Given the description of an element on the screen output the (x, y) to click on. 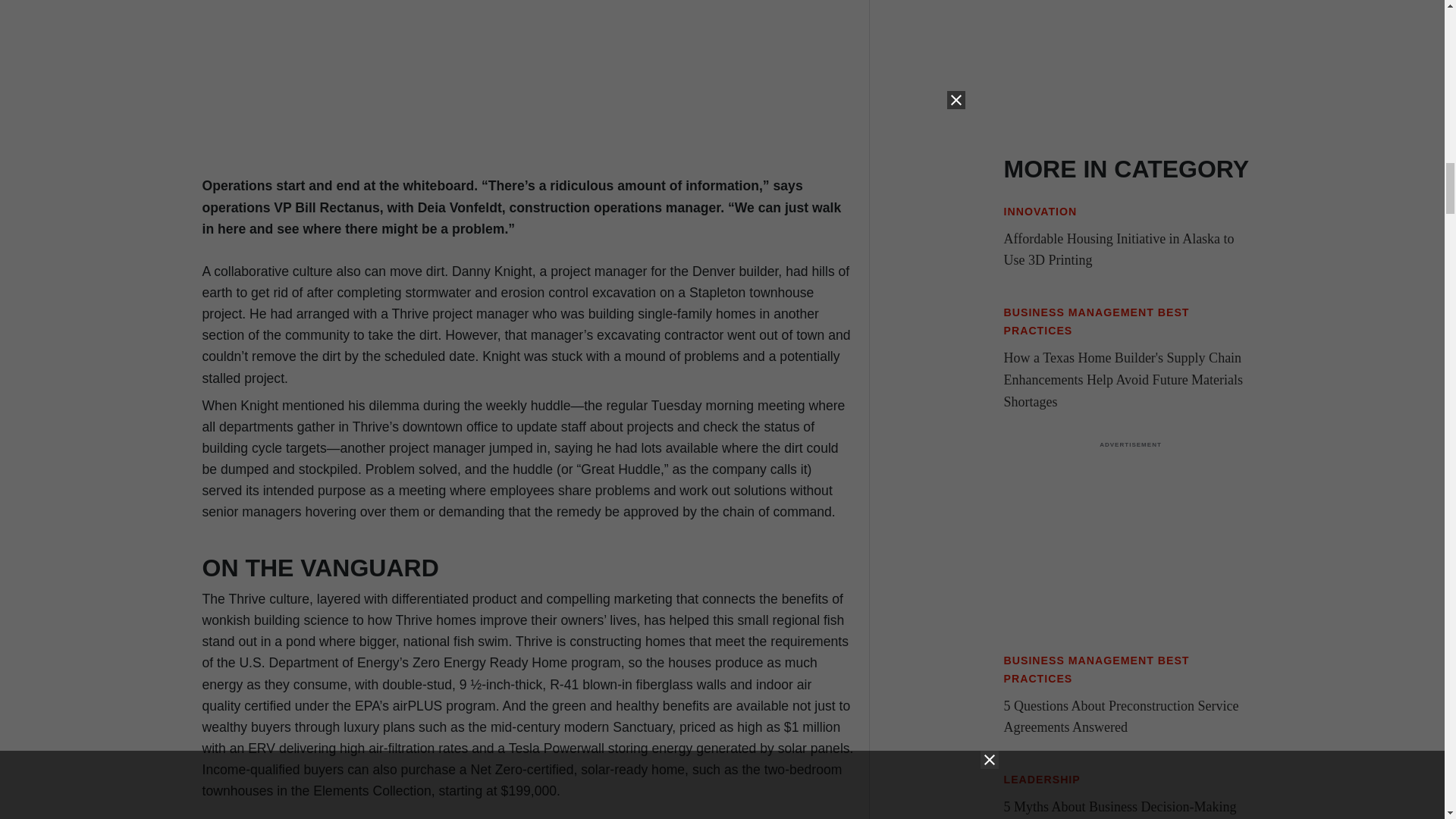
3rd party ad content (1130, 65)
3rd party ad content (1130, 544)
